Given the description of an element on the screen output the (x, y) to click on. 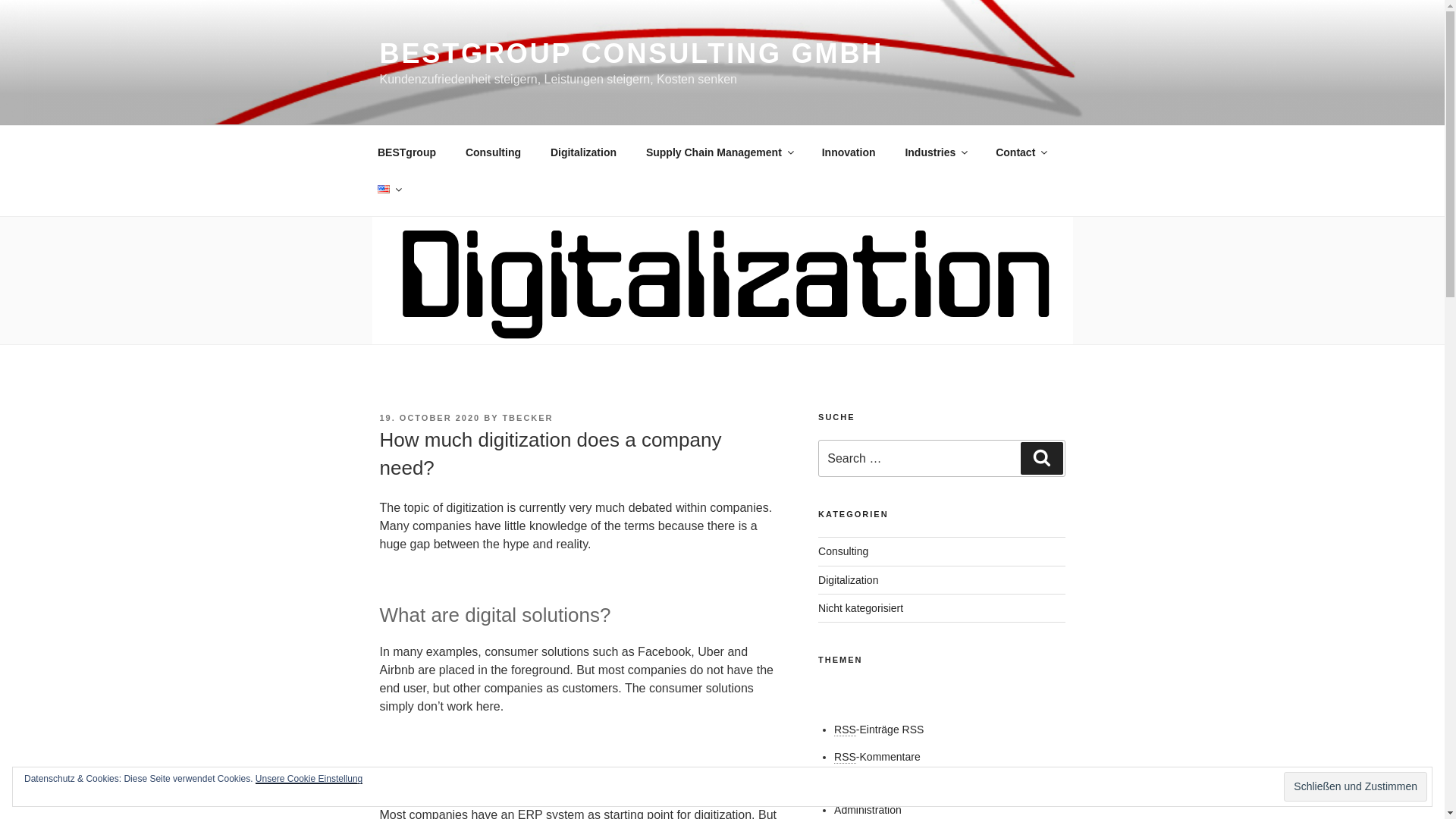
Really Simple Syndication (845, 729)
Search (1041, 458)
Syndicate this site using RSS 2.0 (878, 729)
TBECKER (527, 417)
Really Simple Syndication (845, 757)
Digitalization (847, 580)
BESTgroup (406, 151)
Industries (935, 151)
19. OCTOBER 2020 (429, 417)
Innovation (848, 151)
The latest comments to all posts in RSS (877, 756)
Administration (867, 809)
Digitalization (582, 151)
Supply Chain Management (718, 151)
Einloggen (857, 783)
